Given the description of an element on the screen output the (x, y) to click on. 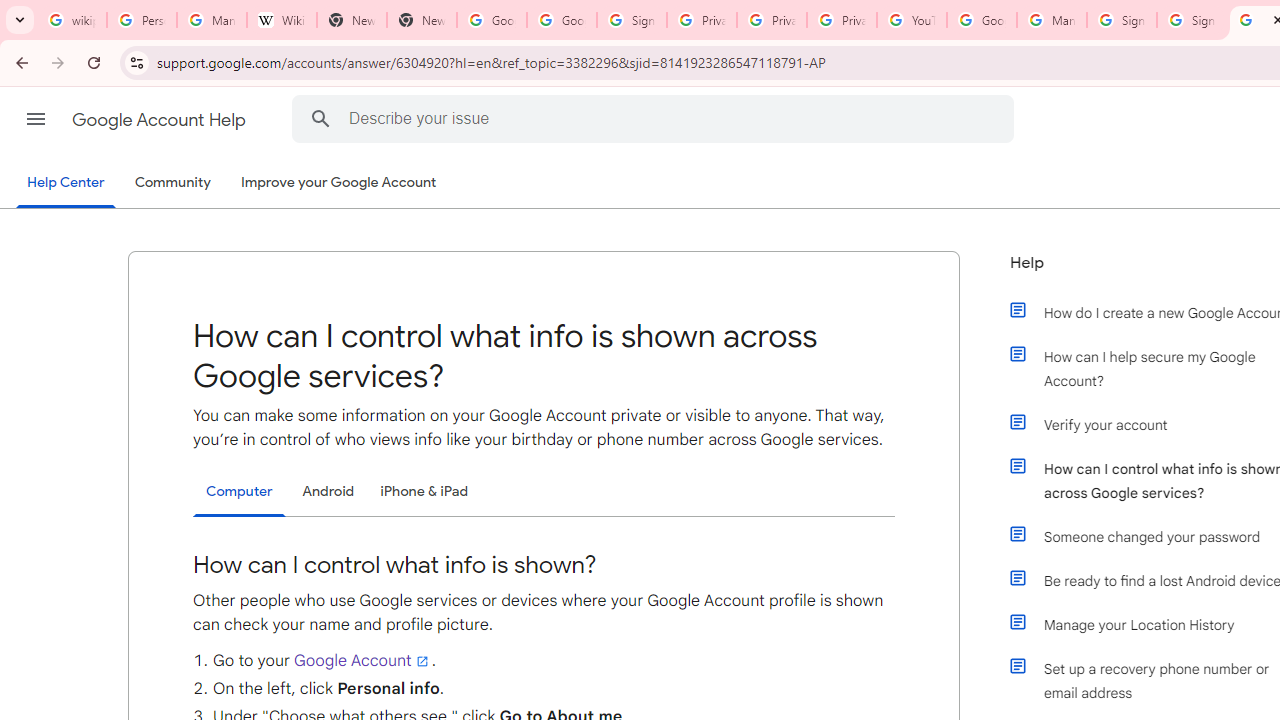
Search Help Center (320, 118)
Computer (239, 492)
Improve your Google Account (339, 183)
New Tab (351, 20)
Wikipedia:Edit requests - Wikipedia (282, 20)
Community (171, 183)
Google Account (363, 660)
Sign in - Google Accounts (1192, 20)
Google Drive: Sign-in (561, 20)
